Given the description of an element on the screen output the (x, y) to click on. 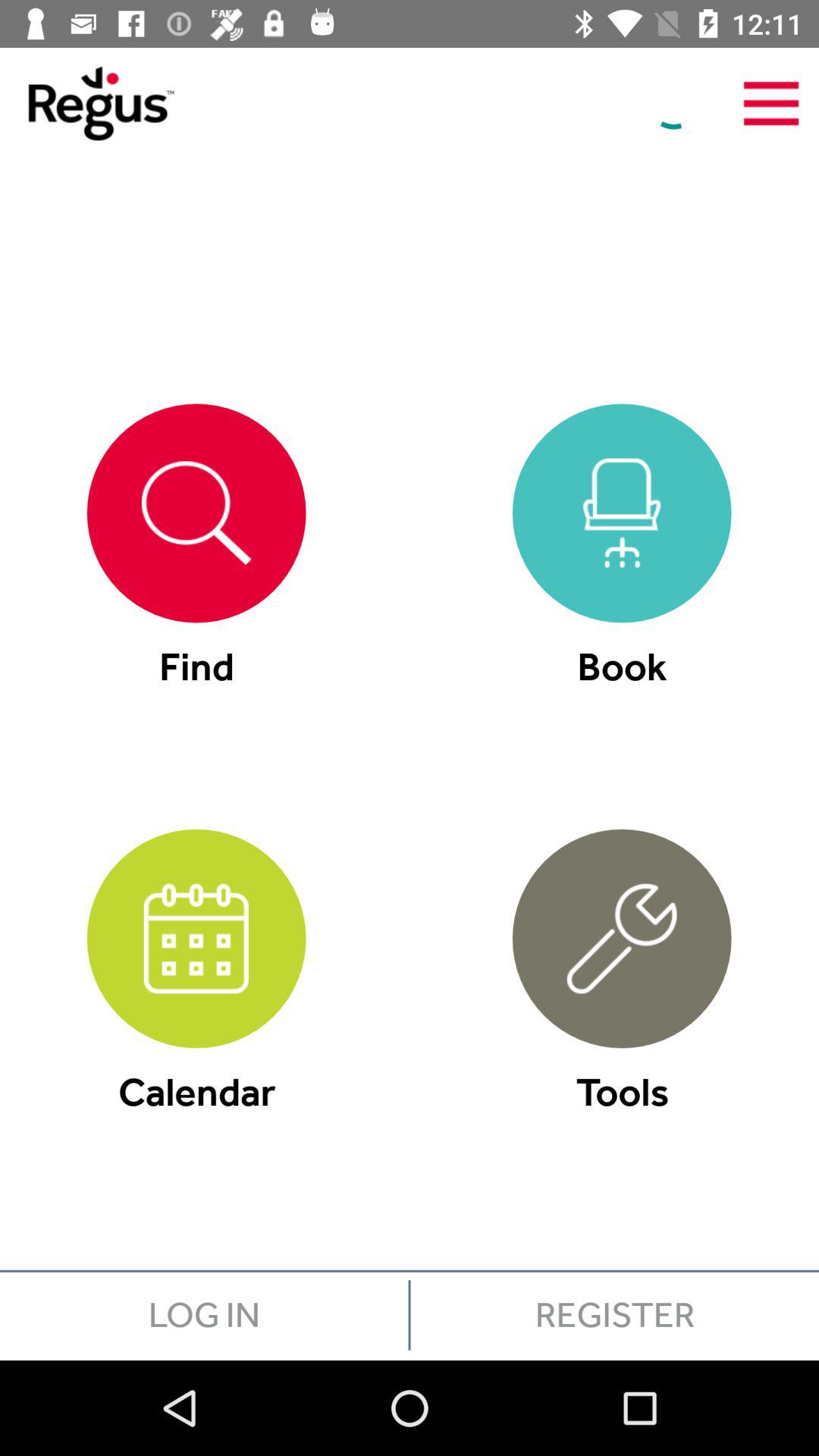
select log in item (204, 1314)
